Given the description of an element on the screen output the (x, y) to click on. 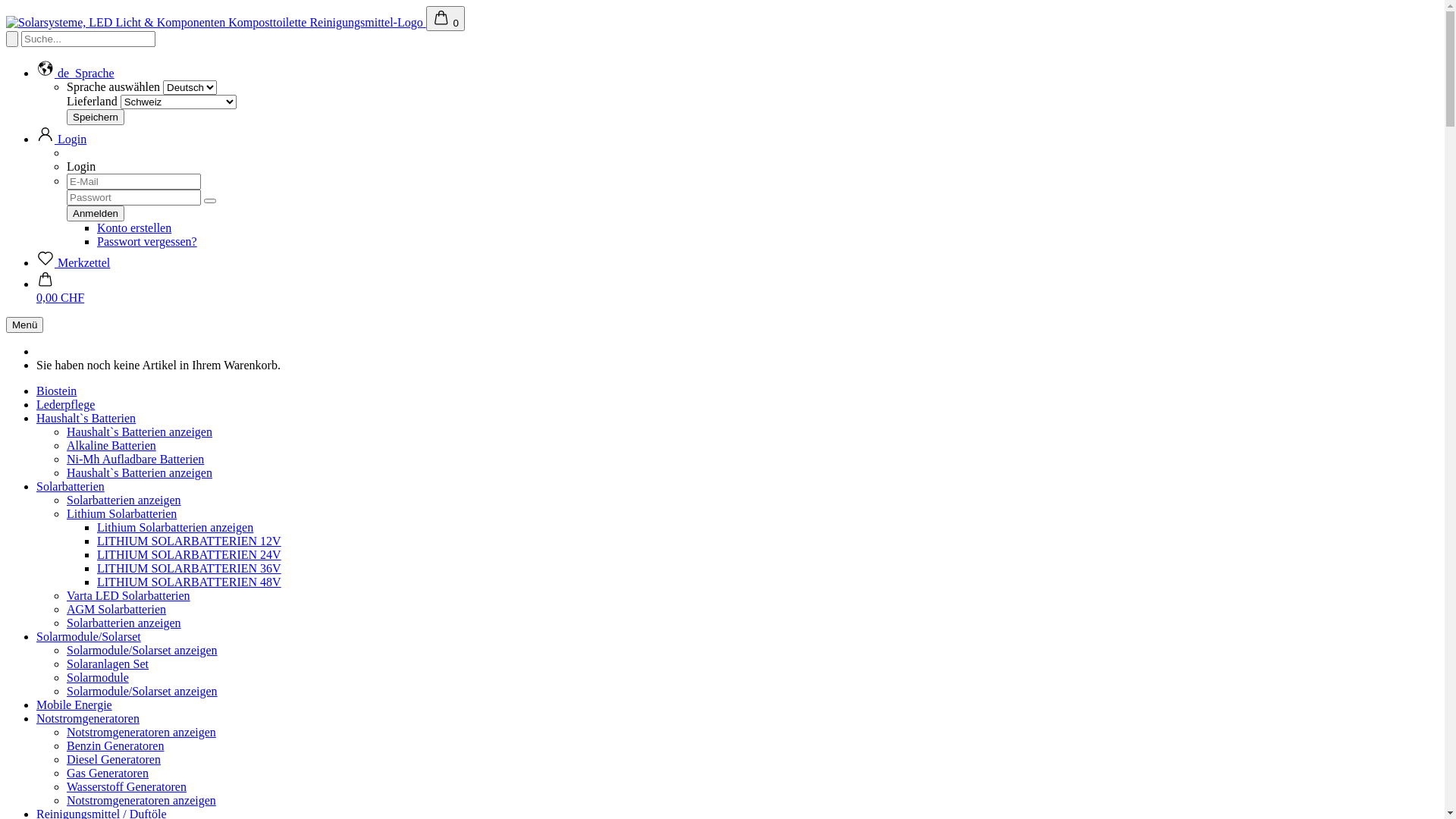
Benzin Generatoren Element type: text (114, 745)
Haushalt`s Batterien anzeigen Element type: text (139, 431)
Solarmodule/Solarset anzeigen Element type: text (141, 690)
LITHIUM SOLARBATTERIEN 24V Element type: text (189, 554)
Solarmodule/Solarset anzeigen Element type: text (141, 649)
Notstromgeneratoren Element type: text (87, 718)
Lederpflege Element type: text (65, 404)
Notstromgeneratoren anzeigen Element type: text (141, 799)
Haushalt`s Batterien anzeigen Element type: text (139, 472)
Solarbatterien Element type: text (70, 486)
Ni-Mh Aufladbare Batterien Element type: text (134, 458)
LITHIUM SOLARBATTERIEN 48V Element type: text (189, 581)
LITHIUM SOLARBATTERIEN 36V Element type: text (189, 567)
Speichern Element type: text (95, 117)
Biostein Element type: text (56, 390)
Notstromgeneratoren anzeigen Element type: text (141, 731)
Alkaline Batterien Element type: text (111, 445)
LITHIUM SOLARBATTERIEN 12V Element type: text (189, 540)
Solaranlagen Set Element type: text (107, 663)
Konto erstellen Element type: text (134, 227)
Anmelden Element type: text (95, 213)
Diesel Generatoren Element type: text (113, 759)
Gas Generatoren Element type: text (107, 772)
Haushalt`s Batterien Element type: text (85, 417)
AGM Solarbatterien Element type: text (116, 608)
Wasserstoff Generatoren Element type: text (126, 786)
Solarmodule/Solarset Element type: text (88, 636)
Varta LED Solarbatterien Element type: text (128, 595)
Speichern Element type: hover (95, 117)
Solarbatterien anzeigen Element type: text (123, 499)
Solarbatterien anzeigen Element type: text (123, 622)
Lithium Solarbatterien Element type: text (121, 513)
Mobile Energie Element type: text (74, 704)
Lithium Solarbatterien anzeigen Element type: text (175, 526)
Passwort vergessen? Element type: text (147, 241)
Solarmodule Element type: text (97, 677)
